Given the description of an element on the screen output the (x, y) to click on. 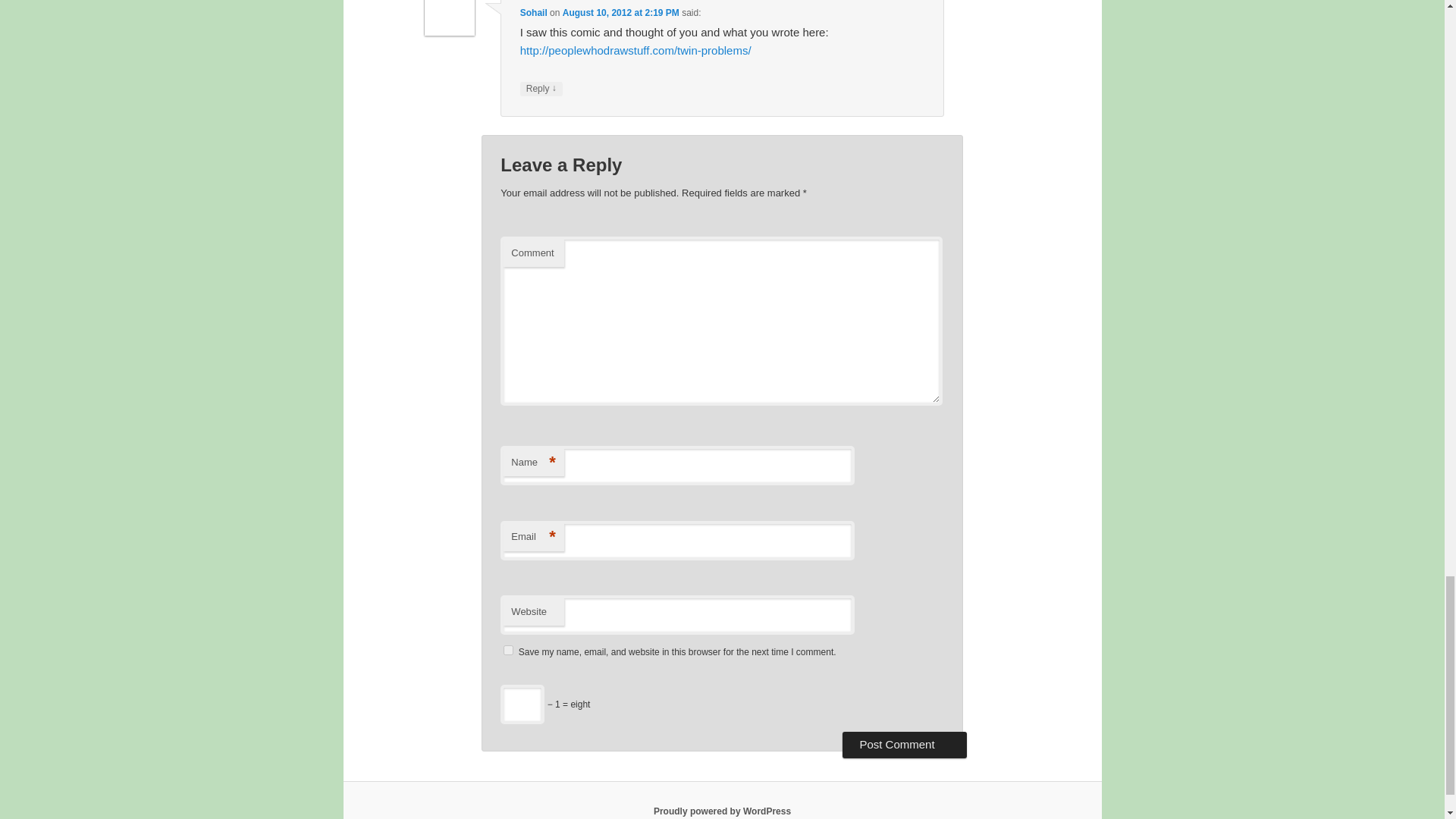
Sohail (533, 12)
yes (508, 650)
Proudly powered by WordPress (721, 810)
Post Comment (904, 744)
Semantic Personal Publishing Platform (721, 810)
August 10, 2012 at 2:19 PM (620, 12)
Post Comment (904, 744)
